Given the description of an element on the screen output the (x, y) to click on. 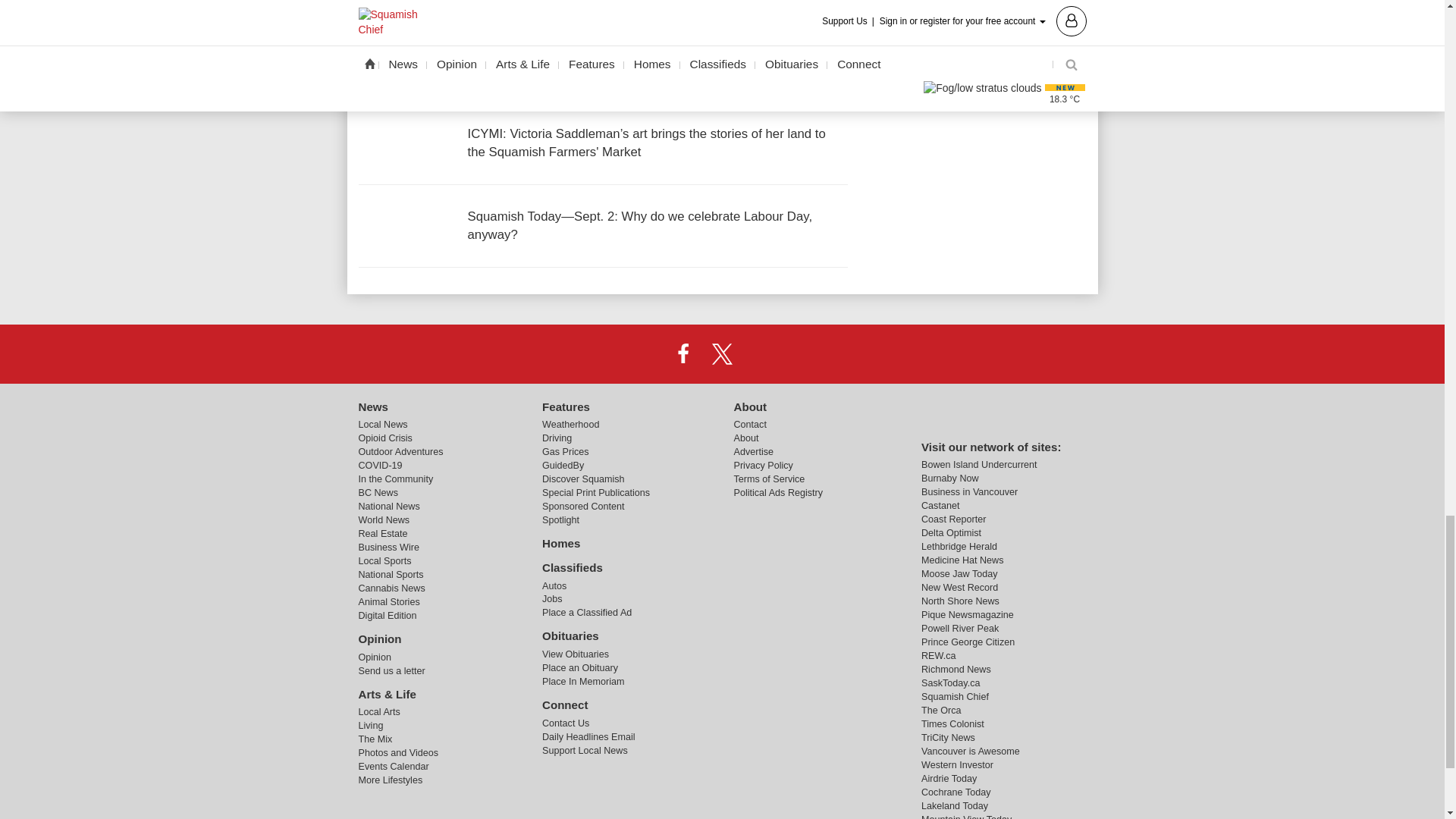
Facebook (683, 353)
Instagram (760, 353)
X (721, 353)
